Given the description of an element on the screen output the (x, y) to click on. 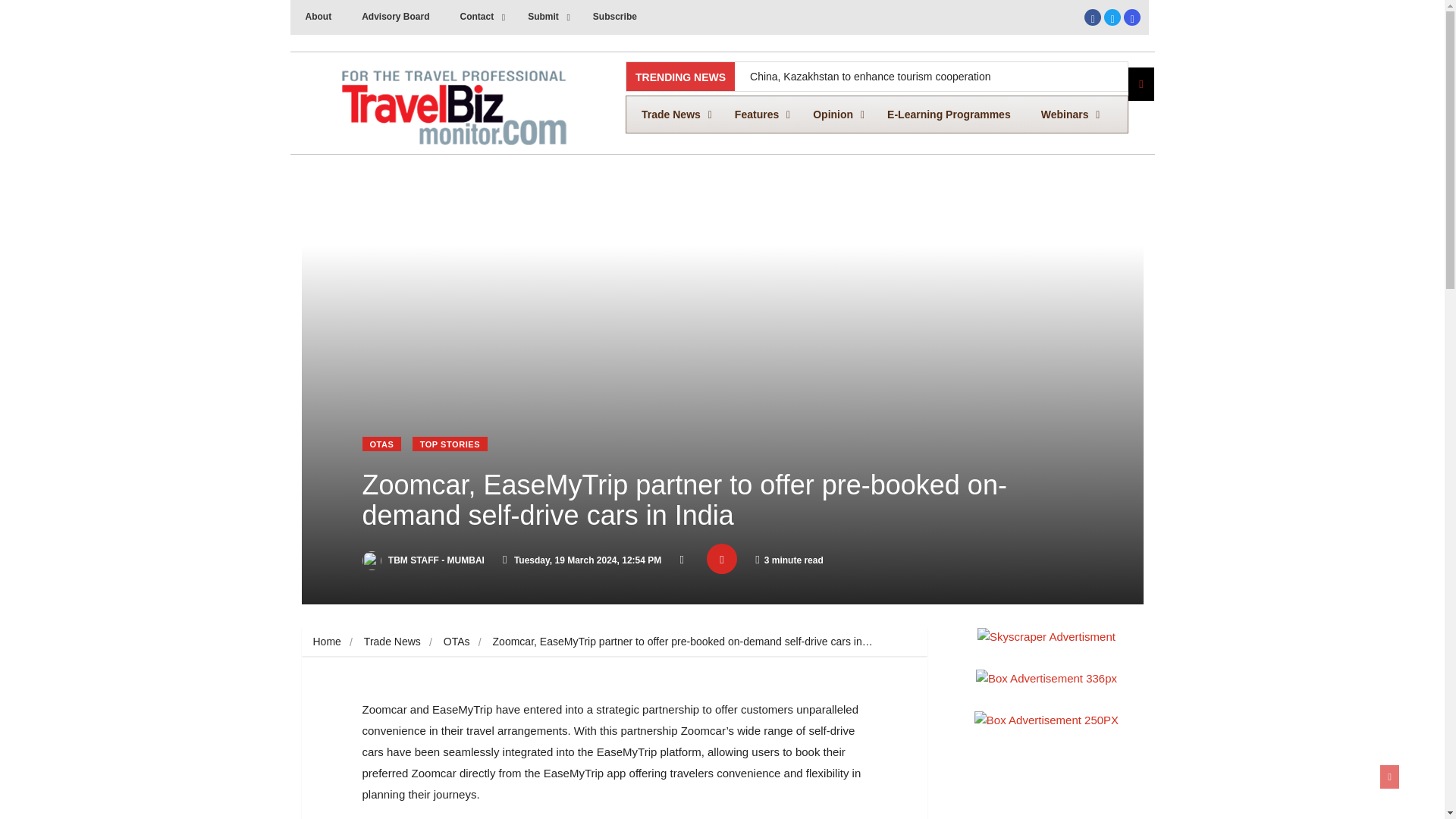
Features (758, 114)
Twitter (1112, 19)
Trade News (672, 114)
Facebook (1092, 17)
Contact (479, 17)
Advisory Board (395, 17)
Twitter (1112, 17)
About (317, 17)
Subscribe (615, 17)
Instagram (1132, 17)
Facebook (877, 114)
Submit (1092, 19)
